Given the description of an element on the screen output the (x, y) to click on. 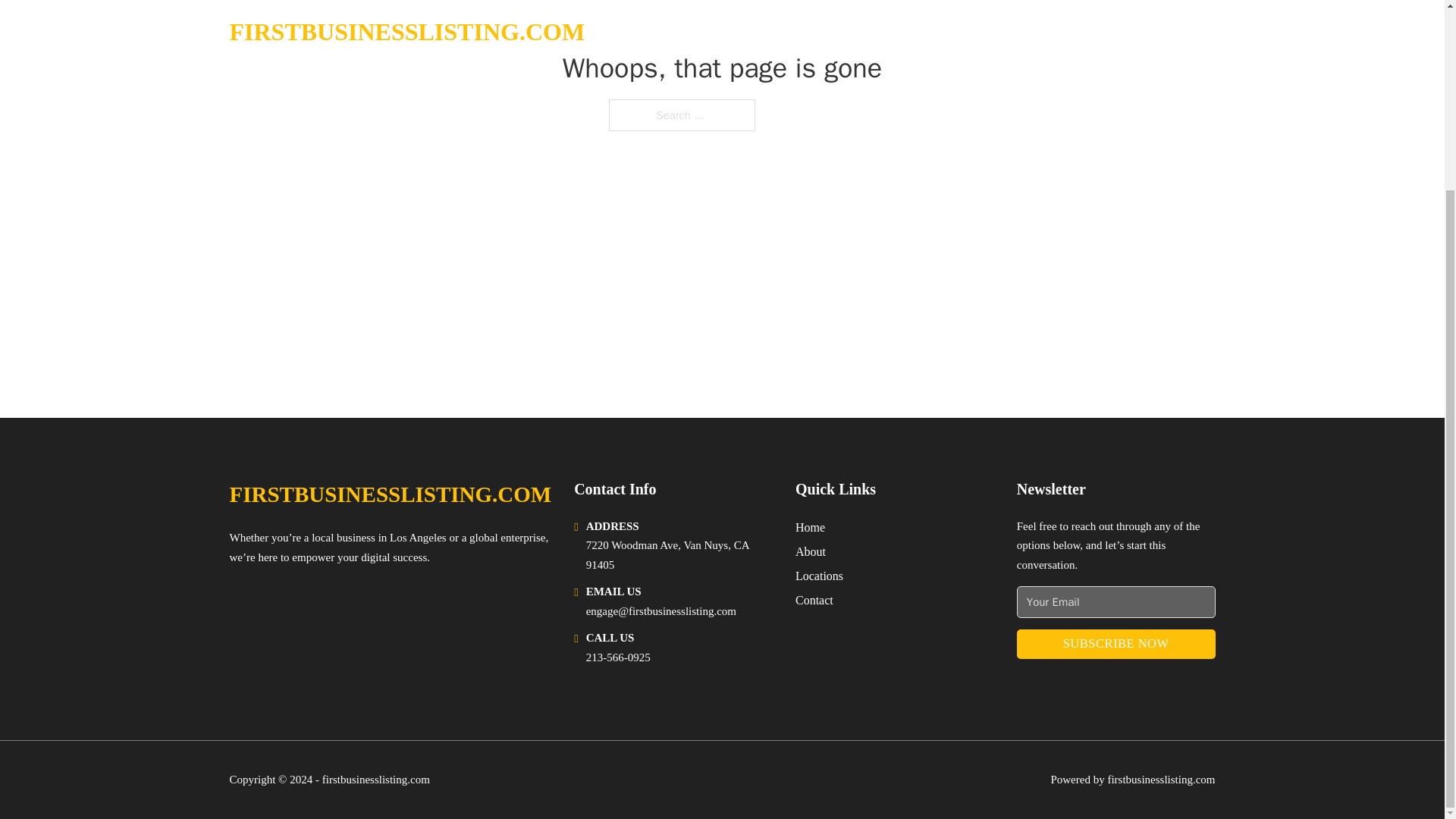
Locations (818, 575)
213-566-0925 (618, 657)
Home (809, 526)
Contact (813, 599)
About (809, 551)
SUBSCRIBE NOW (1115, 644)
FIRSTBUSINESSLISTING.COM (389, 494)
